Given the description of an element on the screen output the (x, y) to click on. 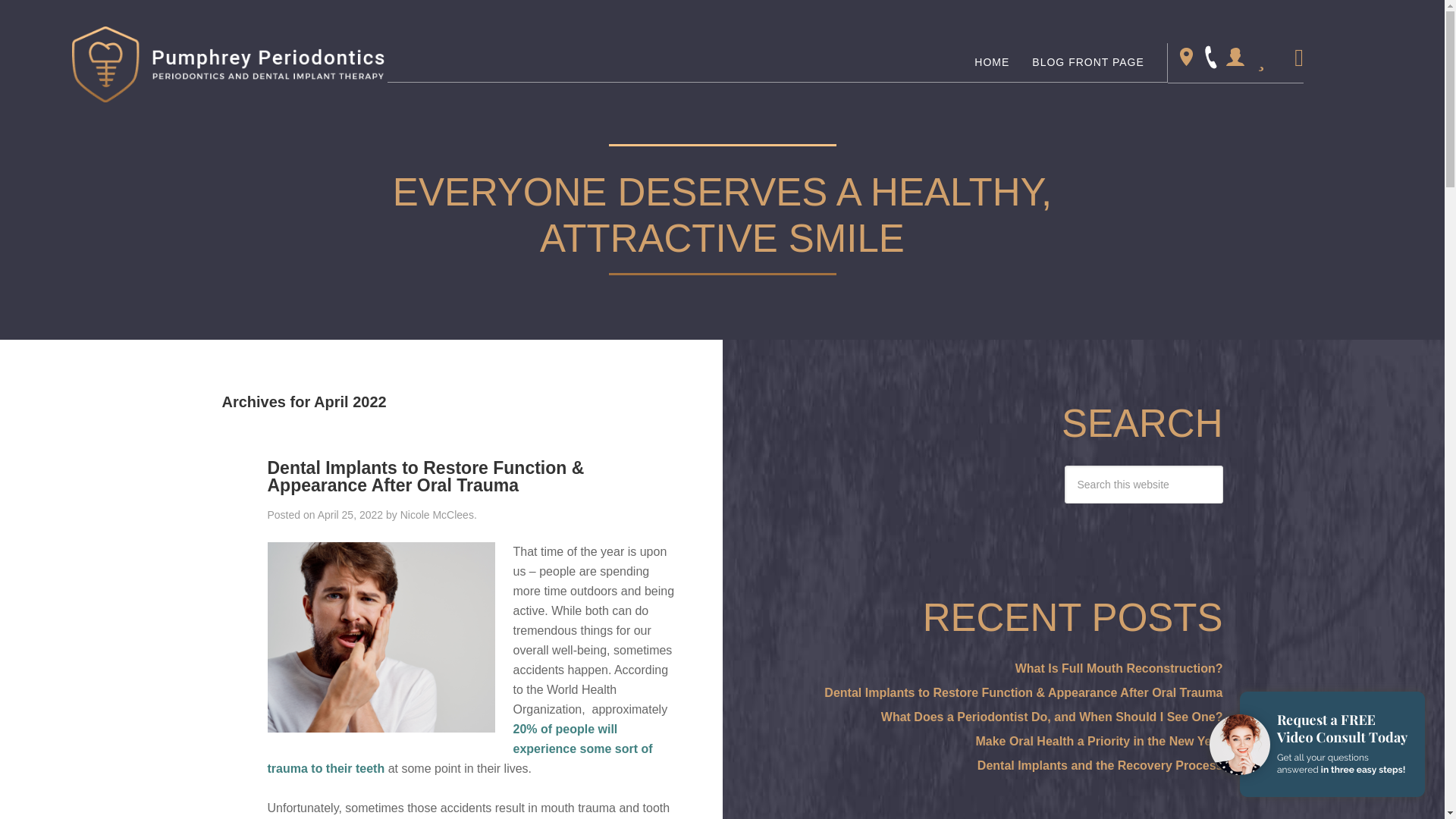
HOME (991, 62)
What Does a Periodontist Do, and When Should I See One? (1051, 716)
Pumhprey Perio (227, 64)
What Is Full Mouth Reconstruction? (1118, 667)
Dental Implants and the Recovery Process (1099, 765)
Make Oral Health a Priority in the New Year (1099, 740)
BLOG FRONT PAGE (1088, 62)
